Given the description of an element on the screen output the (x, y) to click on. 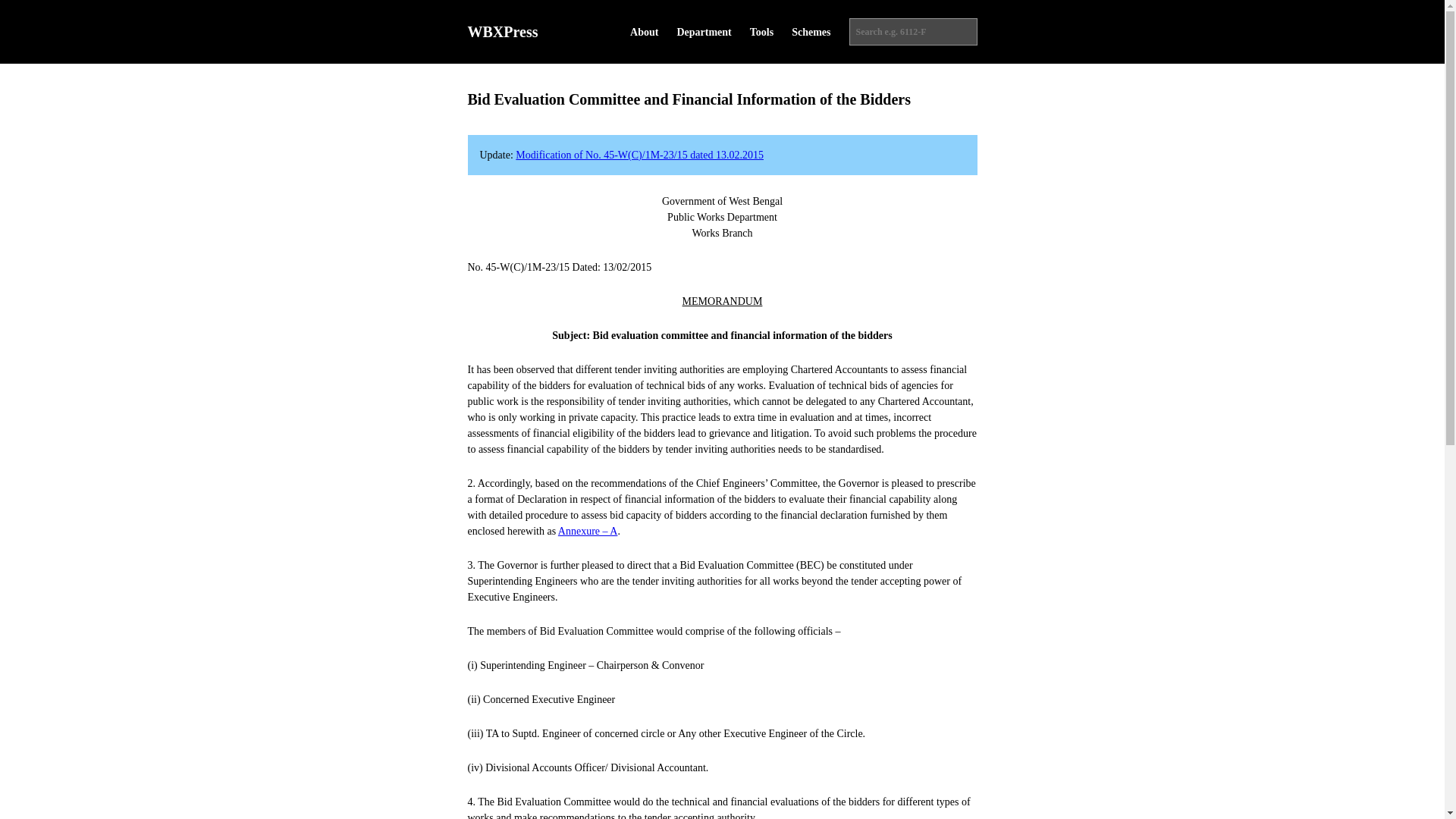
About (644, 32)
Schemes (810, 32)
Department (703, 32)
Tools (761, 32)
WBXPress (502, 31)
